Given the description of an element on the screen output the (x, y) to click on. 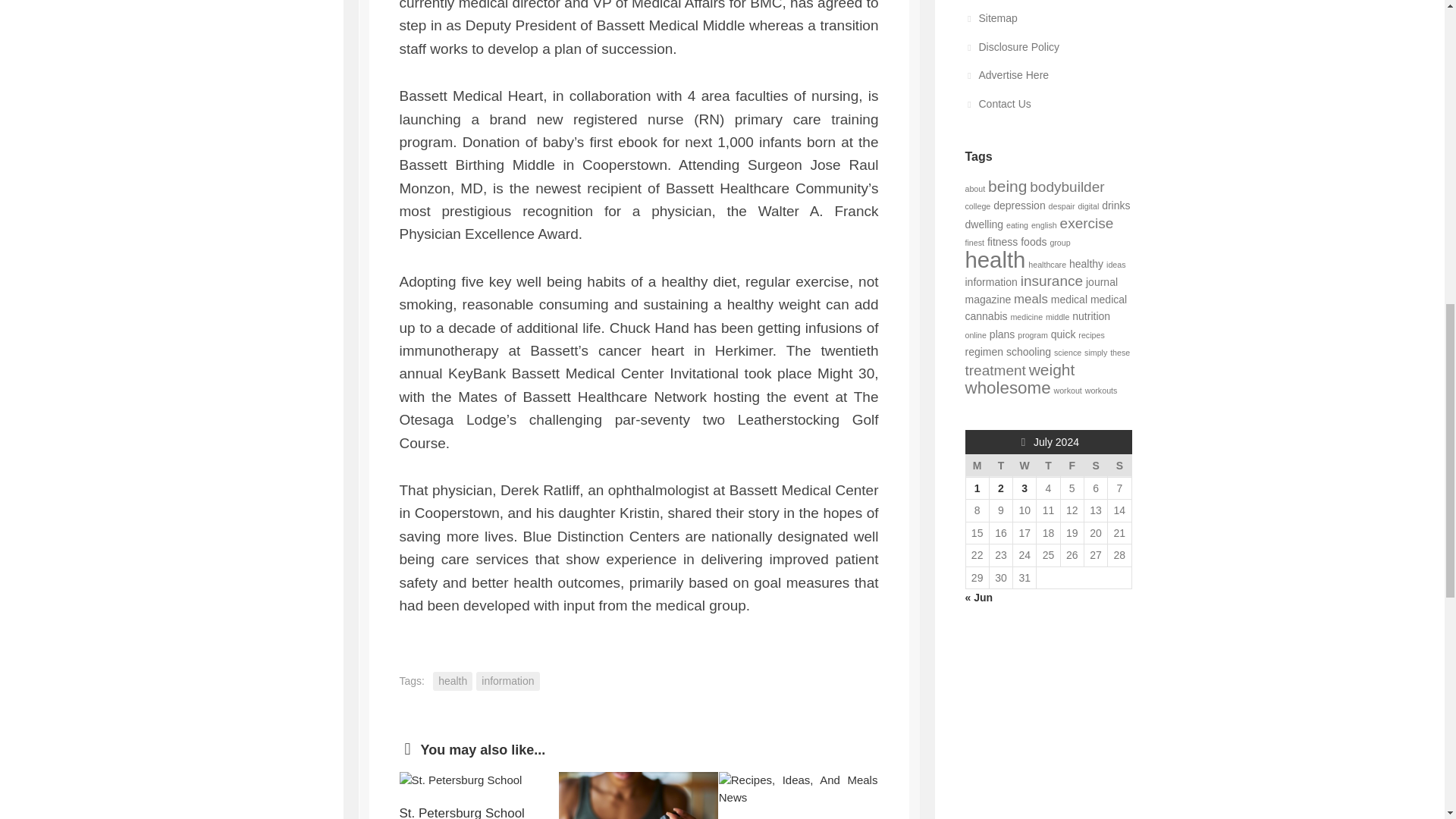
Thursday (1047, 466)
Sunday (1119, 466)
Tuesday (999, 466)
Saturday (1094, 466)
Wednesday (1024, 466)
Friday (1071, 466)
Monday (976, 466)
Survey: Marijuana Is Less Addictive Than Other Substances (638, 795)
Recipes, Ideas, And Meals News (798, 788)
St. Petersburg School (477, 780)
